Given the description of an element on the screen output the (x, y) to click on. 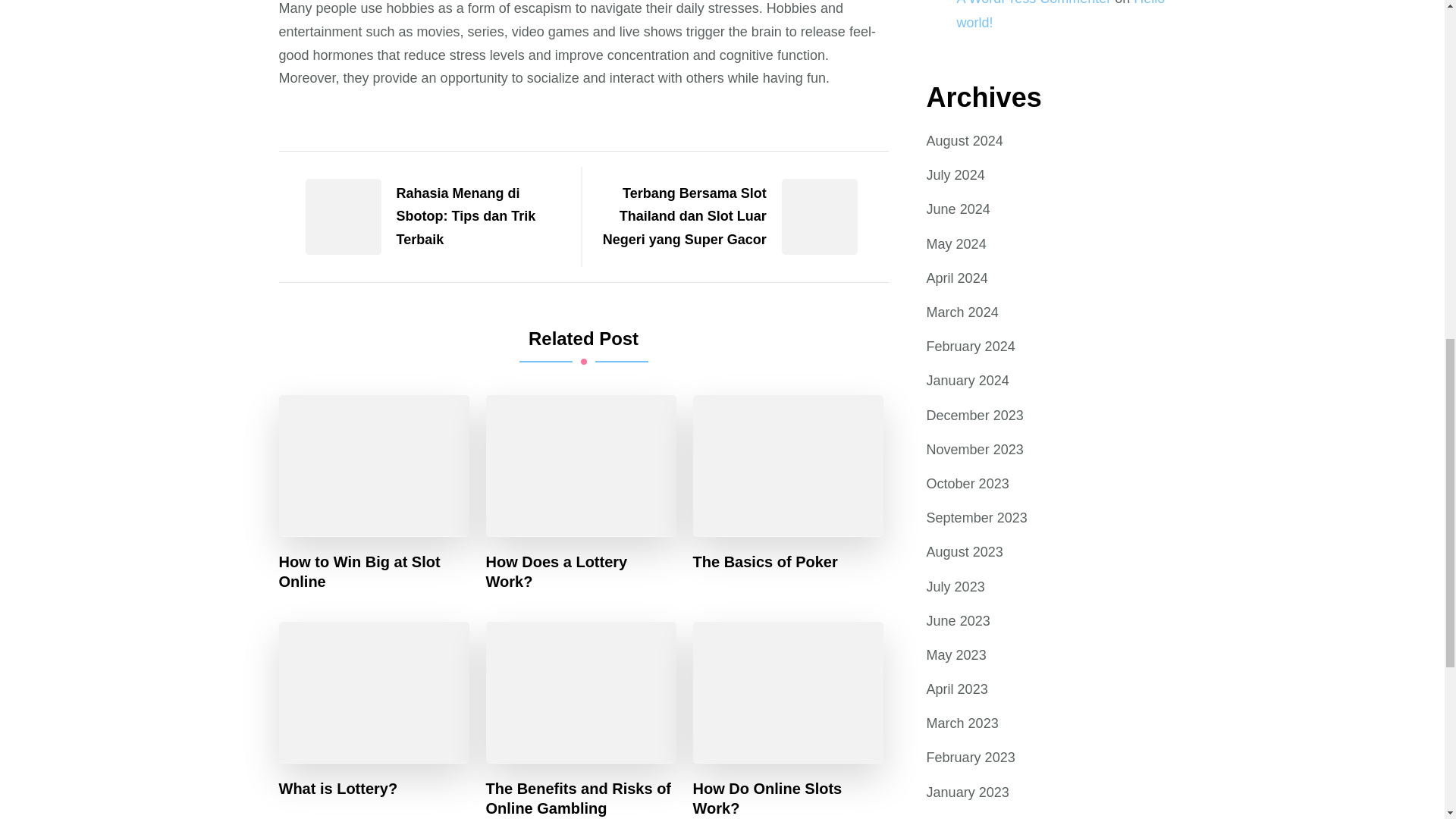
June 2024 (958, 209)
How Do Online Slots Work? (788, 797)
How Does a Lottery Work? (581, 571)
April 2024 (957, 278)
July 2024 (955, 175)
A WordPress Commenter (1034, 2)
The Benefits and Risks of Online Gambling (581, 797)
What is Lottery? (338, 787)
How to Win Big at Slot Online (374, 571)
